Given the description of an element on the screen output the (x, y) to click on. 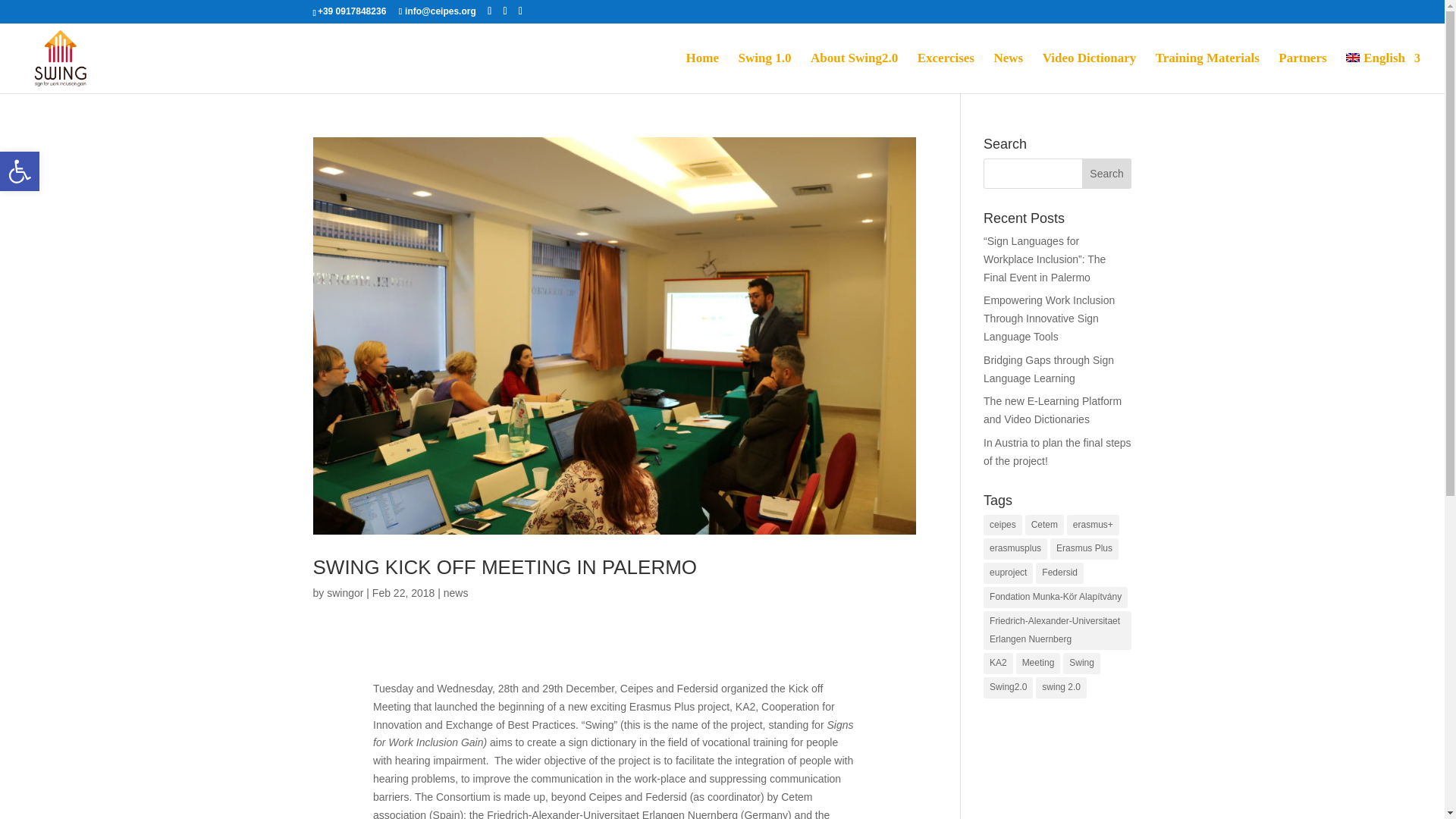
Home (702, 73)
Accessibility Tools (19, 170)
Posts by swingor (344, 592)
Accessibility Tools (19, 170)
News (1007, 73)
